Given the description of an element on the screen output the (x, y) to click on. 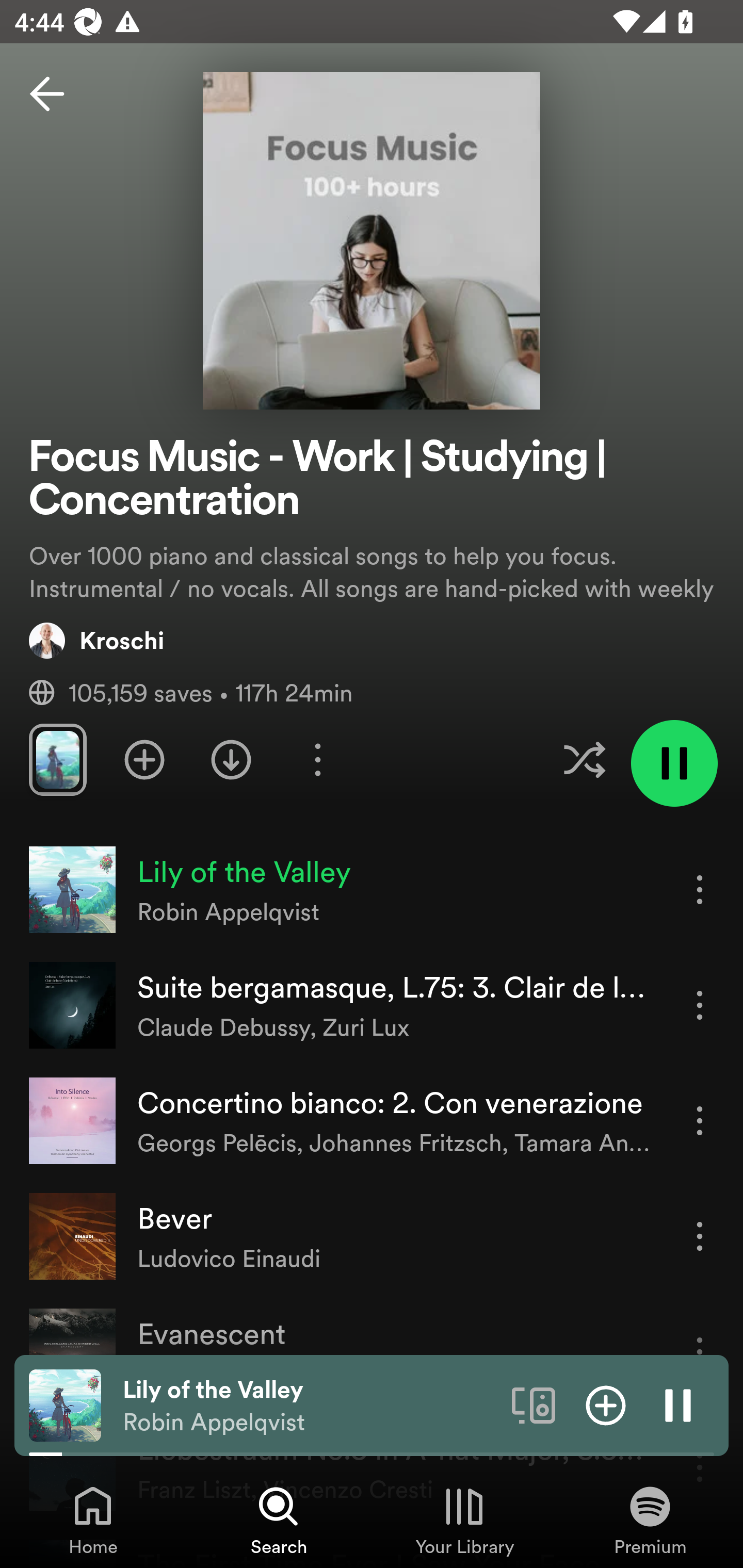
Back (46, 93)
Kroschi (96, 640)
Swipe through previews of tracks in this playlist. (57, 759)
Add playlist to Your Library (144, 759)
Download (230, 759)
Enable shuffle for this playlist (583, 759)
Pause playlist (674, 763)
More options for song Lily of the Valley (699, 889)
Bever Ludovico Einaudi More options for song Bever (371, 1236)
More options for song Bever (699, 1236)
Lily of the Valley Robin Appelqvist (309, 1405)
The cover art of the currently playing track (64, 1404)
Connect to a device. Opens the devices menu (533, 1404)
Add item (605, 1404)
Pause (677, 1404)
Home, Tab 1 of 4 Home Home (92, 1519)
Search, Tab 2 of 4 Search Search (278, 1519)
Your Library, Tab 3 of 4 Your Library Your Library (464, 1519)
Premium, Tab 4 of 4 Premium Premium (650, 1519)
